Given the description of an element on the screen output the (x, y) to click on. 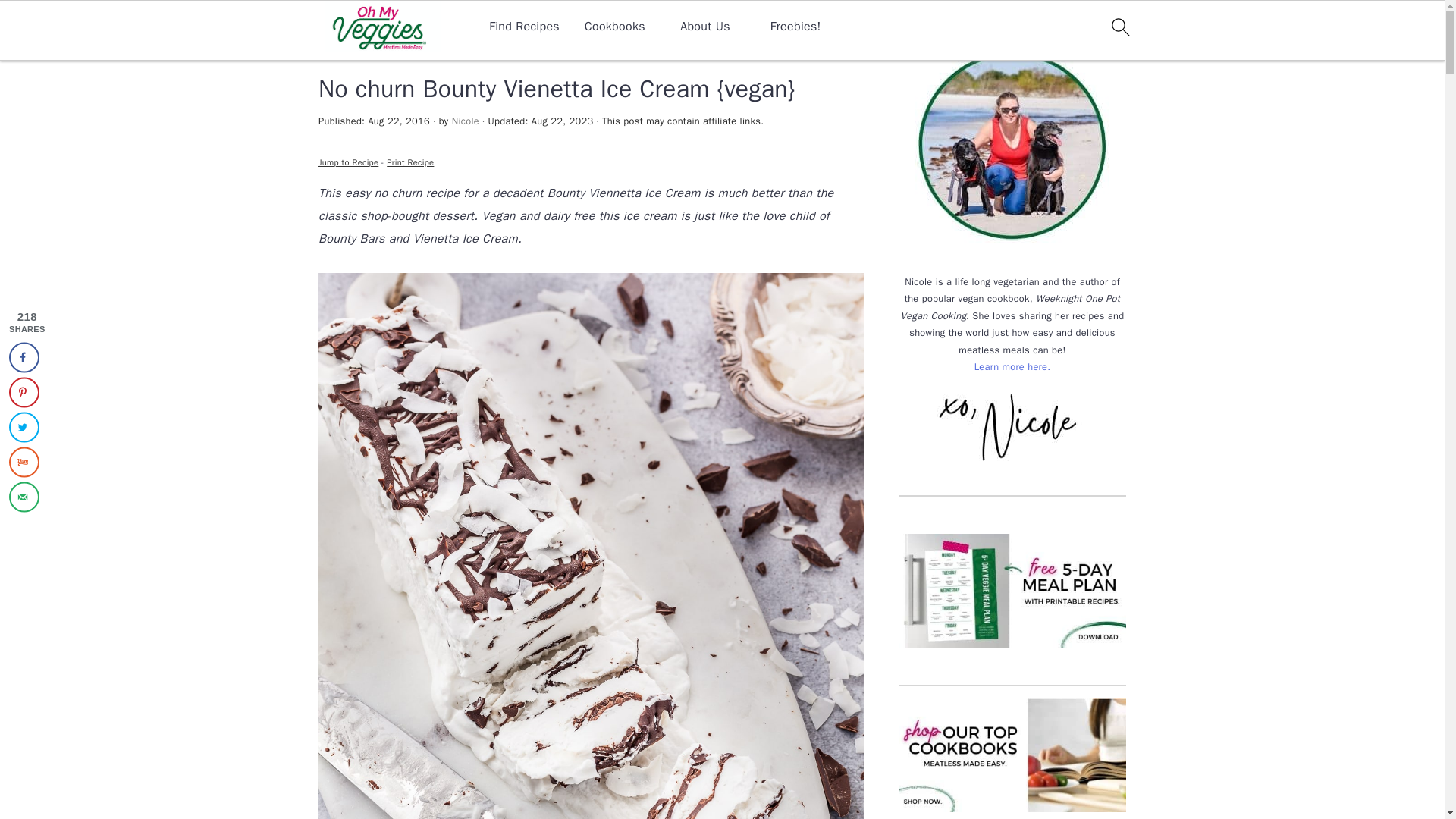
Share on Twitter (23, 426)
Share on Facebook (23, 357)
Send over email (23, 496)
Share on Yummly (23, 461)
Cookbooks (615, 26)
About Us (704, 26)
Find Recipes (524, 26)
search icon (1119, 26)
Save to Pinterest (23, 391)
Freebies! (795, 26)
